Given the description of an element on the screen output the (x, y) to click on. 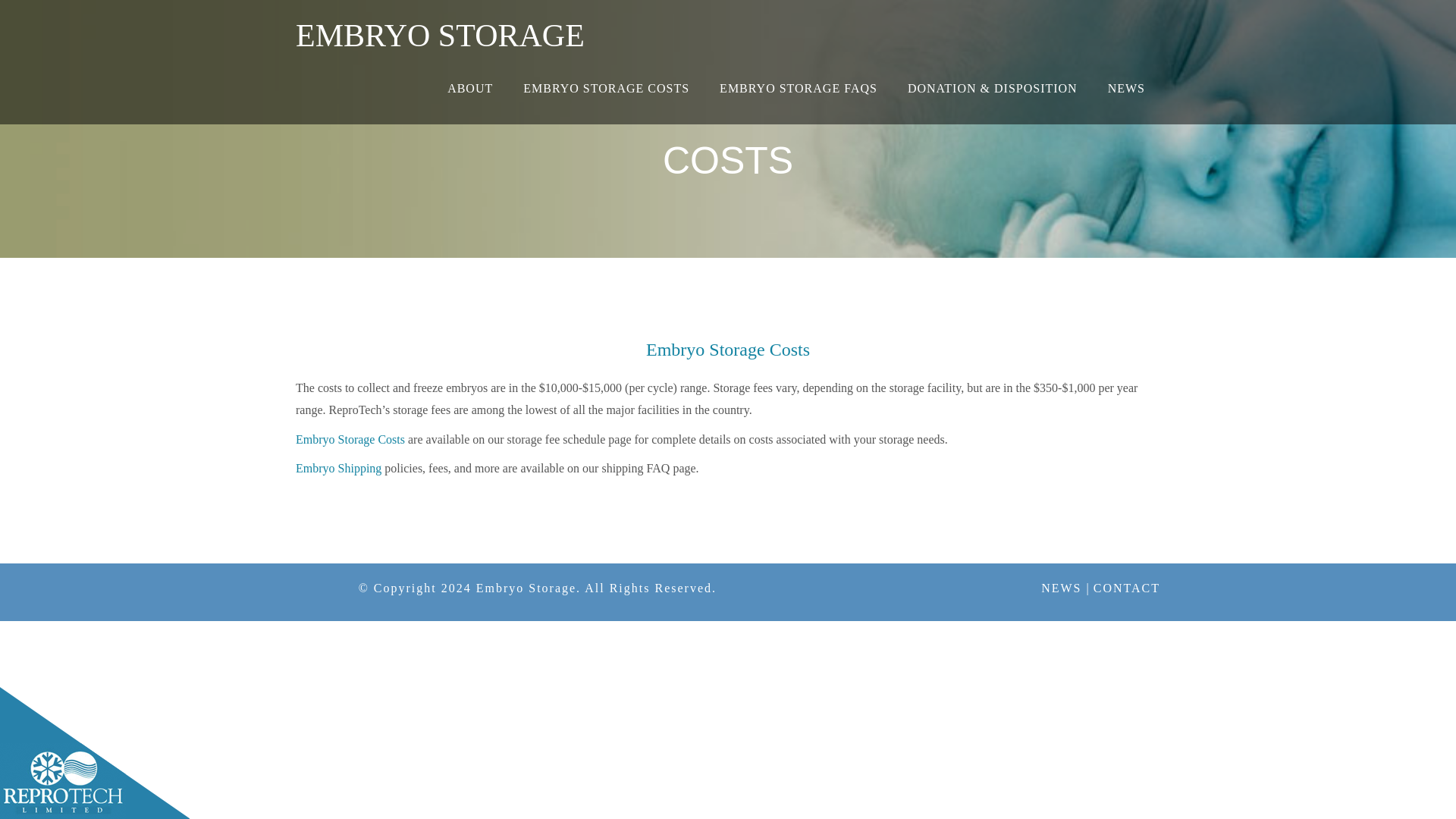
NEWS (1126, 88)
EMBRYO STORAGE (439, 30)
Embryo Storage Costs (349, 439)
CONTACT (1126, 587)
Embryo Shipping (338, 468)
ABOUT (470, 88)
EMBRYO STORAGE COSTS (606, 88)
EMBRYO STORAGE FAQS (798, 88)
